Given the description of an element on the screen output the (x, y) to click on. 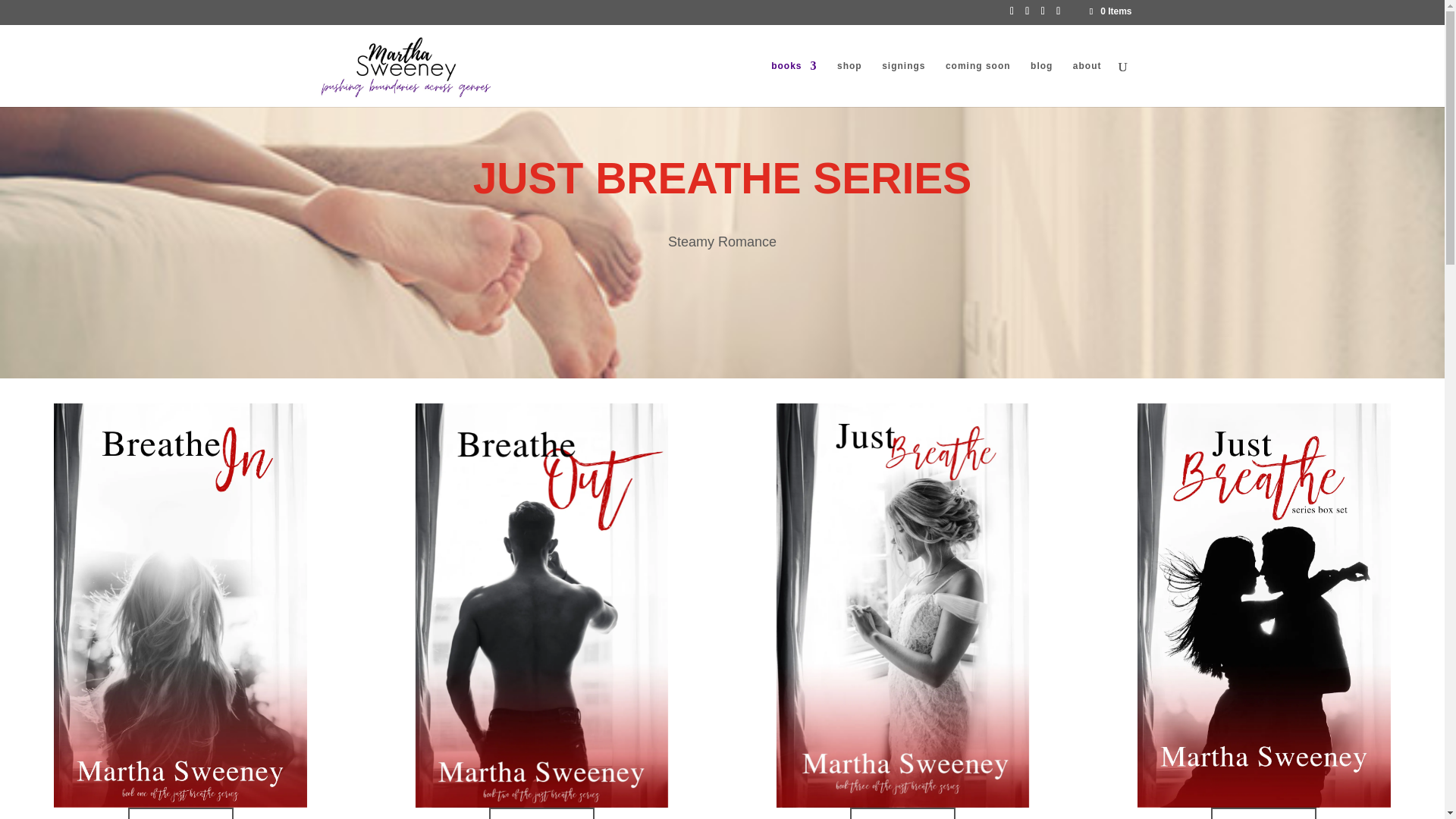
signings (903, 83)
about (1087, 83)
coming soon (977, 83)
books (793, 83)
0 Items (1108, 10)
blog (1041, 83)
shop (849, 83)
